Given the description of an element on the screen output the (x, y) to click on. 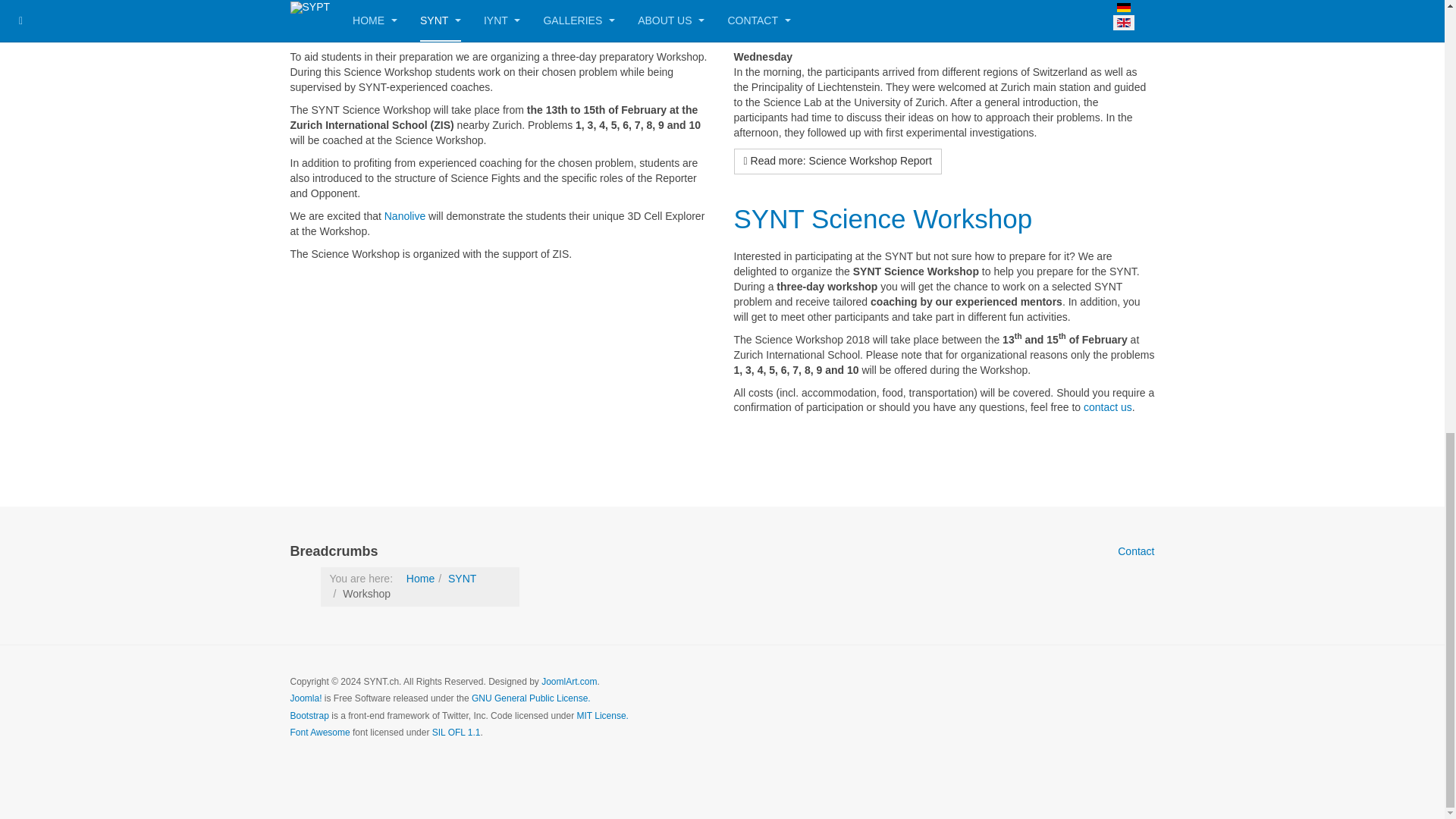
SYNT Science Workshop (882, 218)
Visit Joomlart.com! (568, 681)
Science Workshop Report (887, 19)
Bootstrap by Twitter (309, 715)
Science Workshop 2018 (432, 19)
MIT License (601, 715)
